Given the description of an element on the screen output the (x, y) to click on. 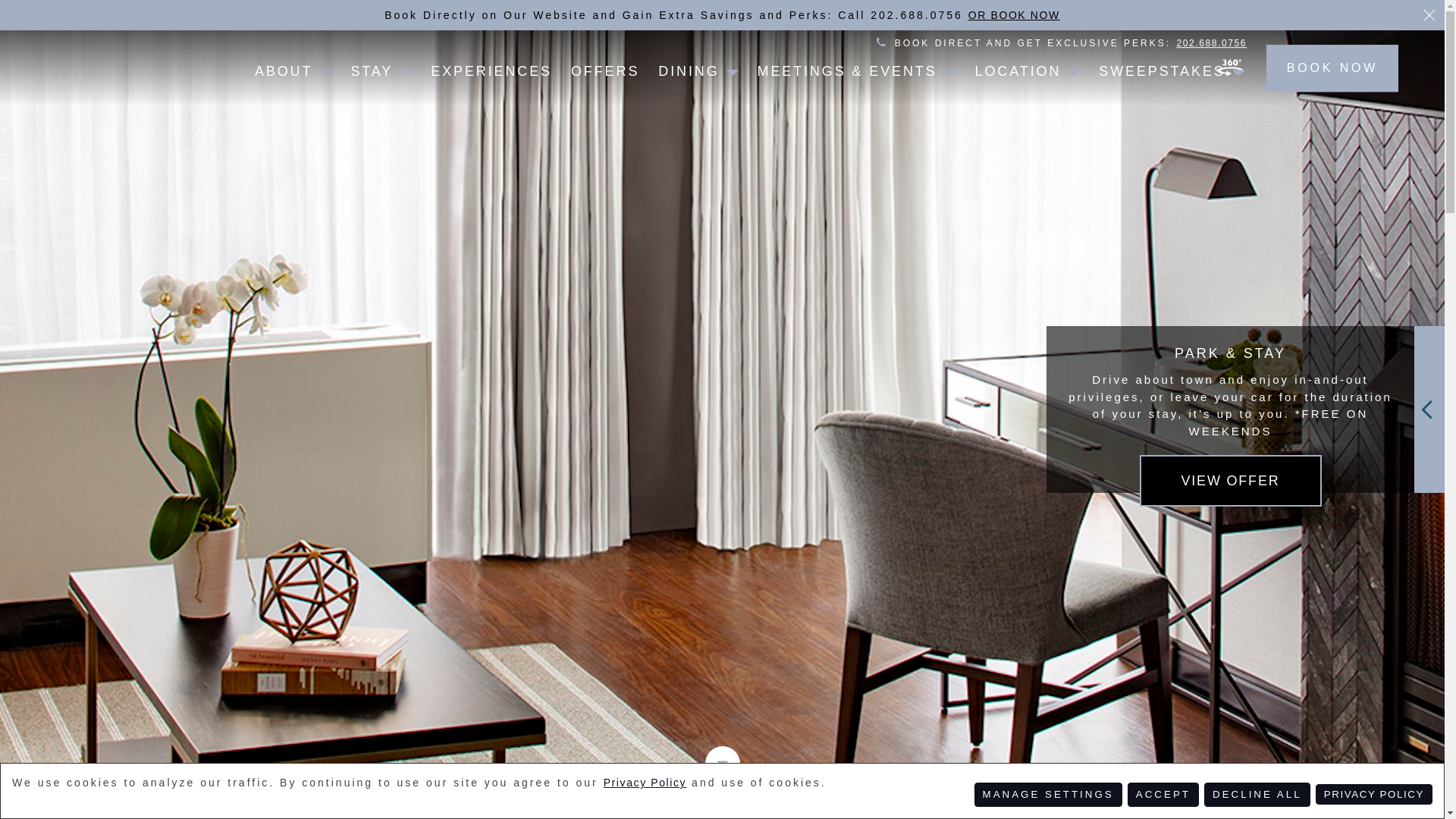
202.688.0756 (1211, 42)
Link to Virtual Tour (1230, 67)
EXPERIENCES (490, 70)
LOCATION (1018, 86)
Close (1429, 14)
BOOK NOW (1331, 68)
STAY (371, 86)
ABOUT (283, 86)
DINING (688, 86)
Open Booking Engine to Book Now (1331, 68)
